Given the description of an element on the screen output the (x, y) to click on. 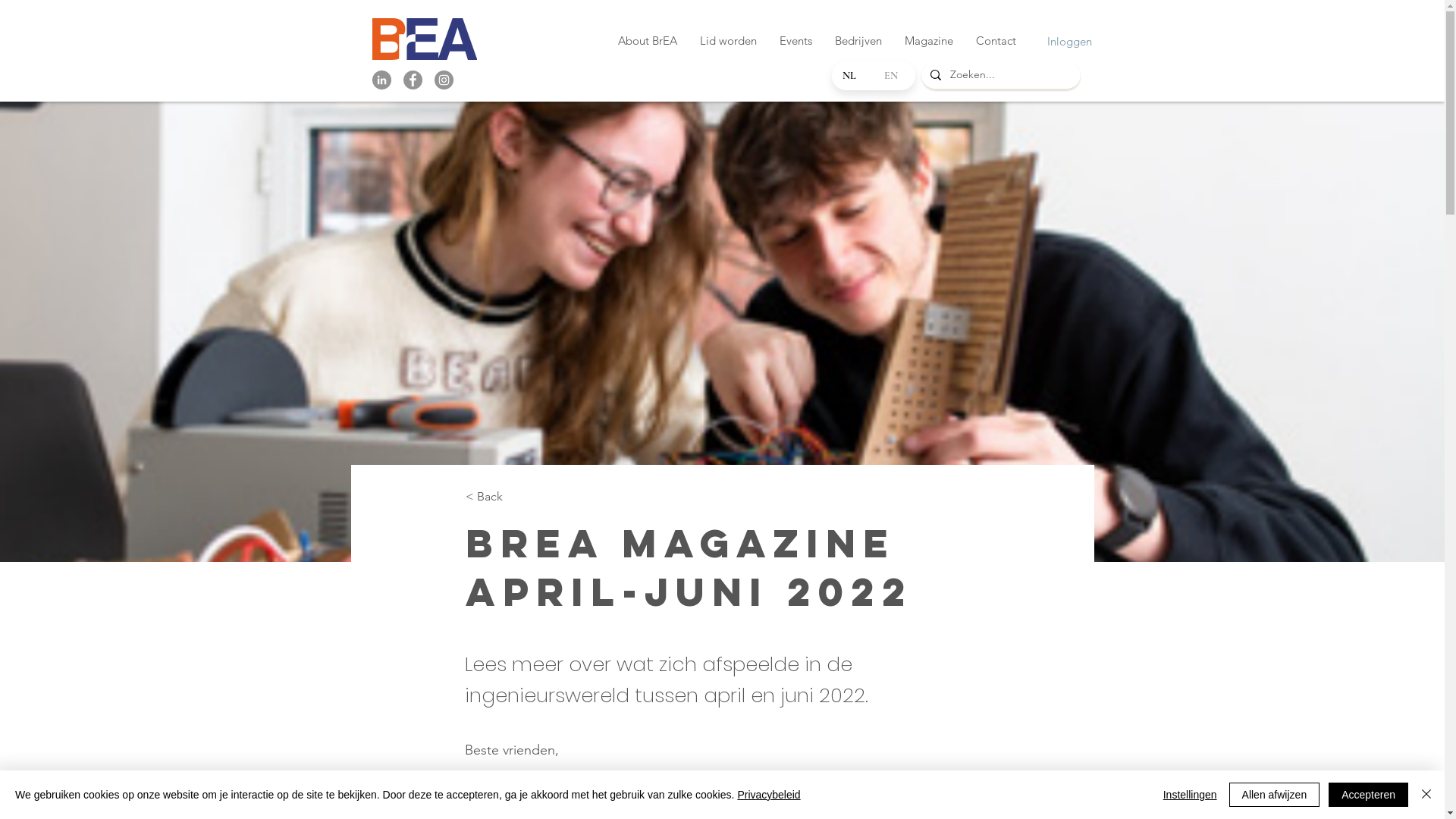
Allen afwijzen Element type: text (1274, 794)
Bedrijven Element type: text (858, 40)
About BrEA Element type: text (647, 40)
EN Element type: text (893, 75)
< Back Element type: text (515, 497)
Accepteren Element type: text (1368, 794)
Events Element type: text (794, 40)
Magazine Element type: text (928, 40)
Privacybeleid Element type: text (768, 794)
Contact Element type: text (995, 40)
Inloggen Element type: text (1050, 40)
Lid worden Element type: text (728, 40)
NL Element type: text (851, 75)
